Given the description of an element on the screen output the (x, y) to click on. 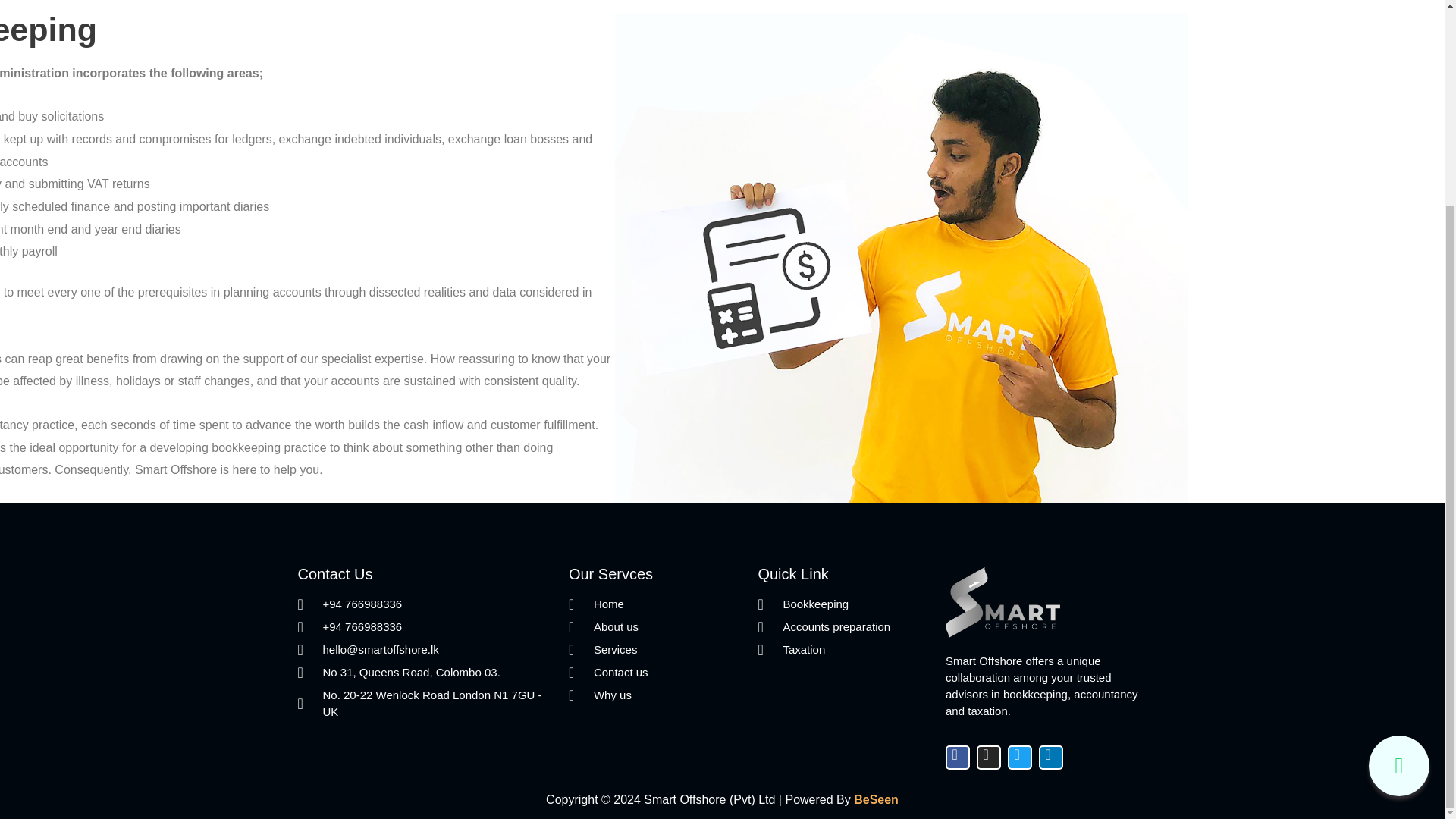
Accounts preparation (843, 627)
Taxation (843, 649)
Why us (655, 695)
Bookkeeping (843, 604)
No 31, Queens Road, Colombo 03. (425, 672)
About us (655, 627)
No. 20-22 Wenlock Road London N1 7GU - UK (425, 703)
Home (655, 604)
Powered By BeSeen (841, 799)
Services (655, 649)
Contact us (655, 672)
